Given the description of an element on the screen output the (x, y) to click on. 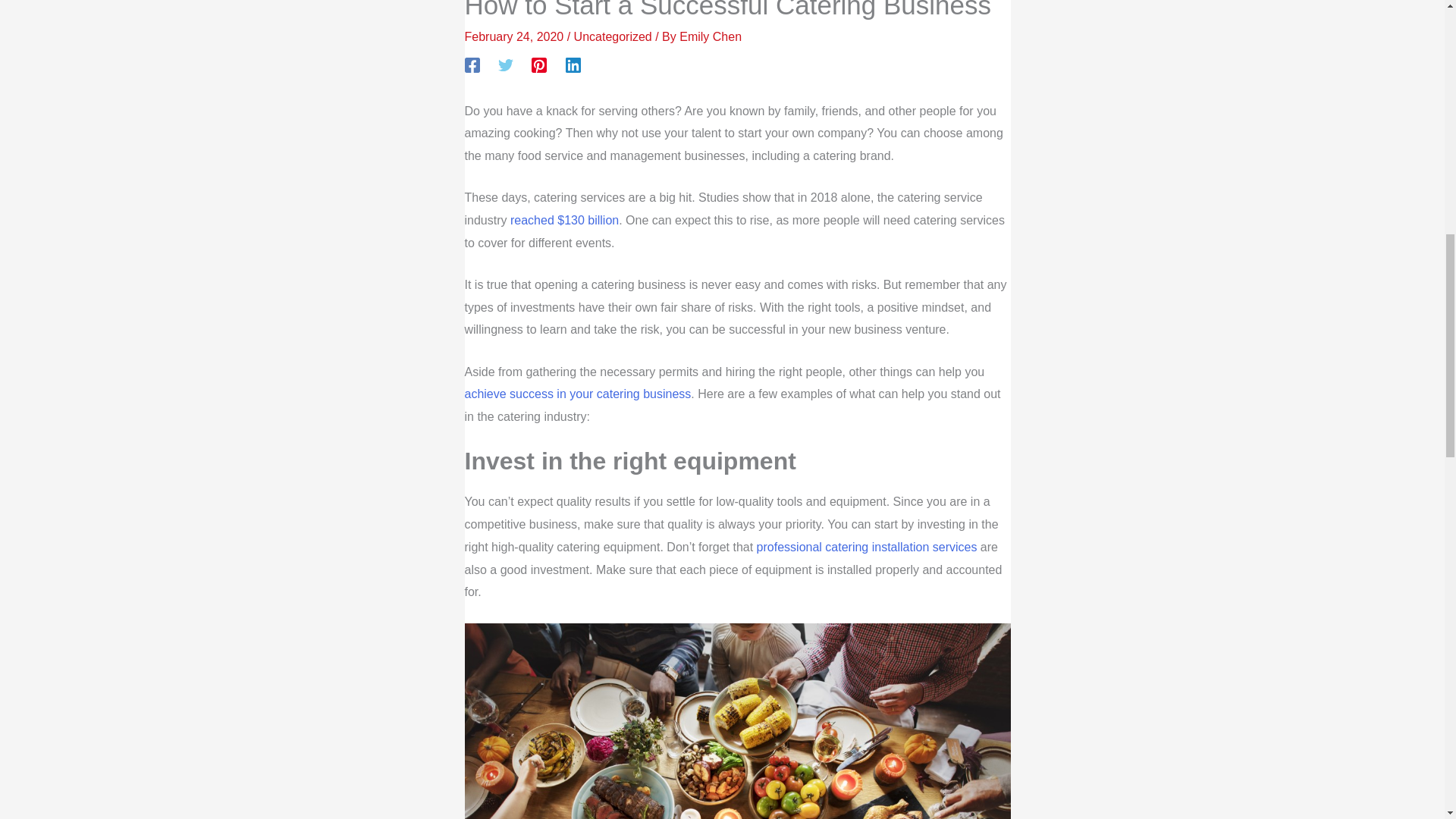
professional catering installation services (866, 546)
Kent Catering (866, 546)
View all posts by Emily Chen (710, 36)
Emily Chen (710, 36)
achieve success in your catering business (577, 393)
TechSci Research (564, 219)
Uncategorized (612, 36)
